Given the description of an element on the screen output the (x, y) to click on. 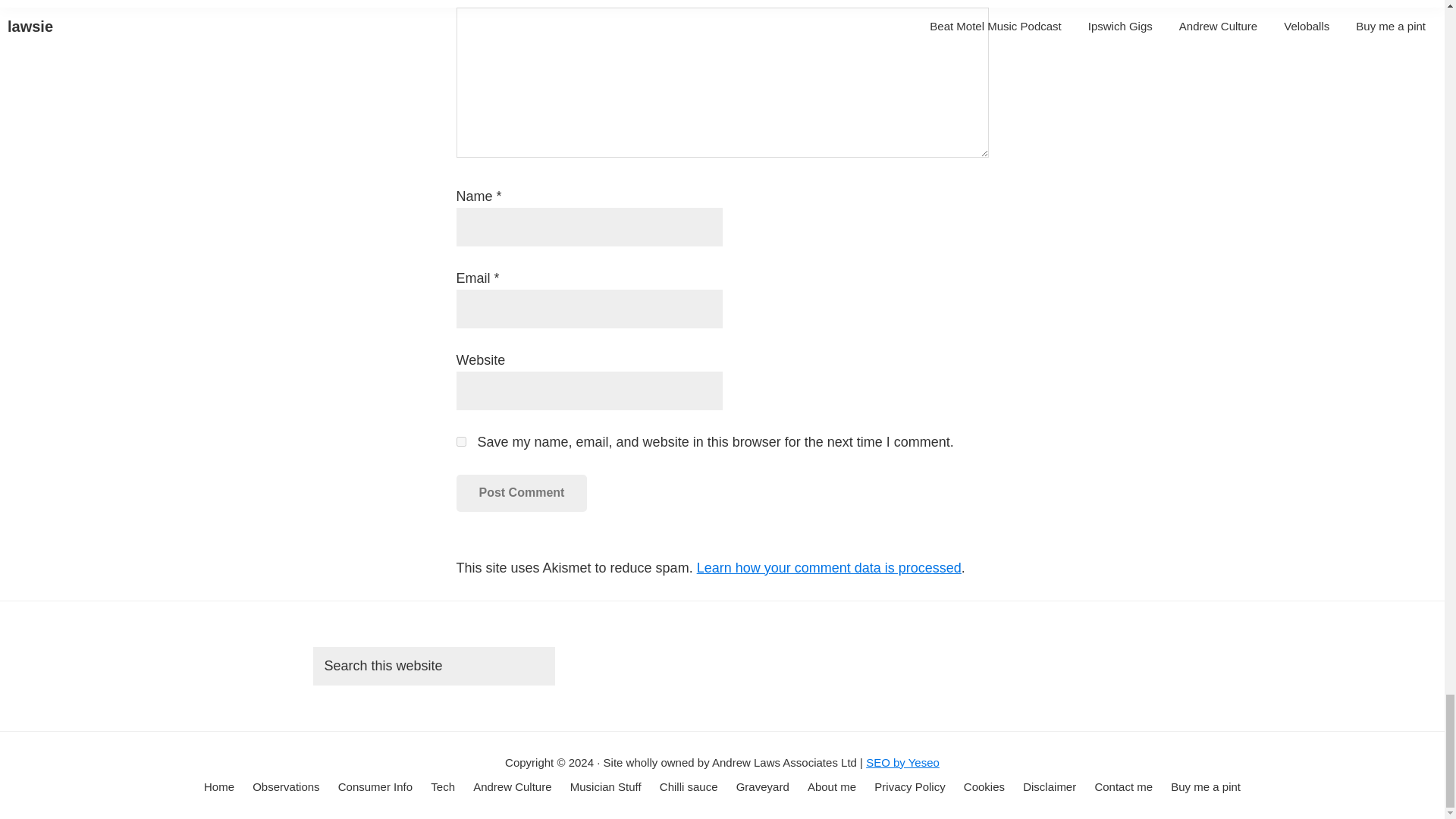
Andrew Culture (512, 787)
Consumer Info (374, 787)
Tech (442, 787)
Post Comment (522, 493)
Musician Stuff (606, 787)
Home (218, 787)
Post Comment (522, 493)
yes (461, 441)
